Given the description of an element on the screen output the (x, y) to click on. 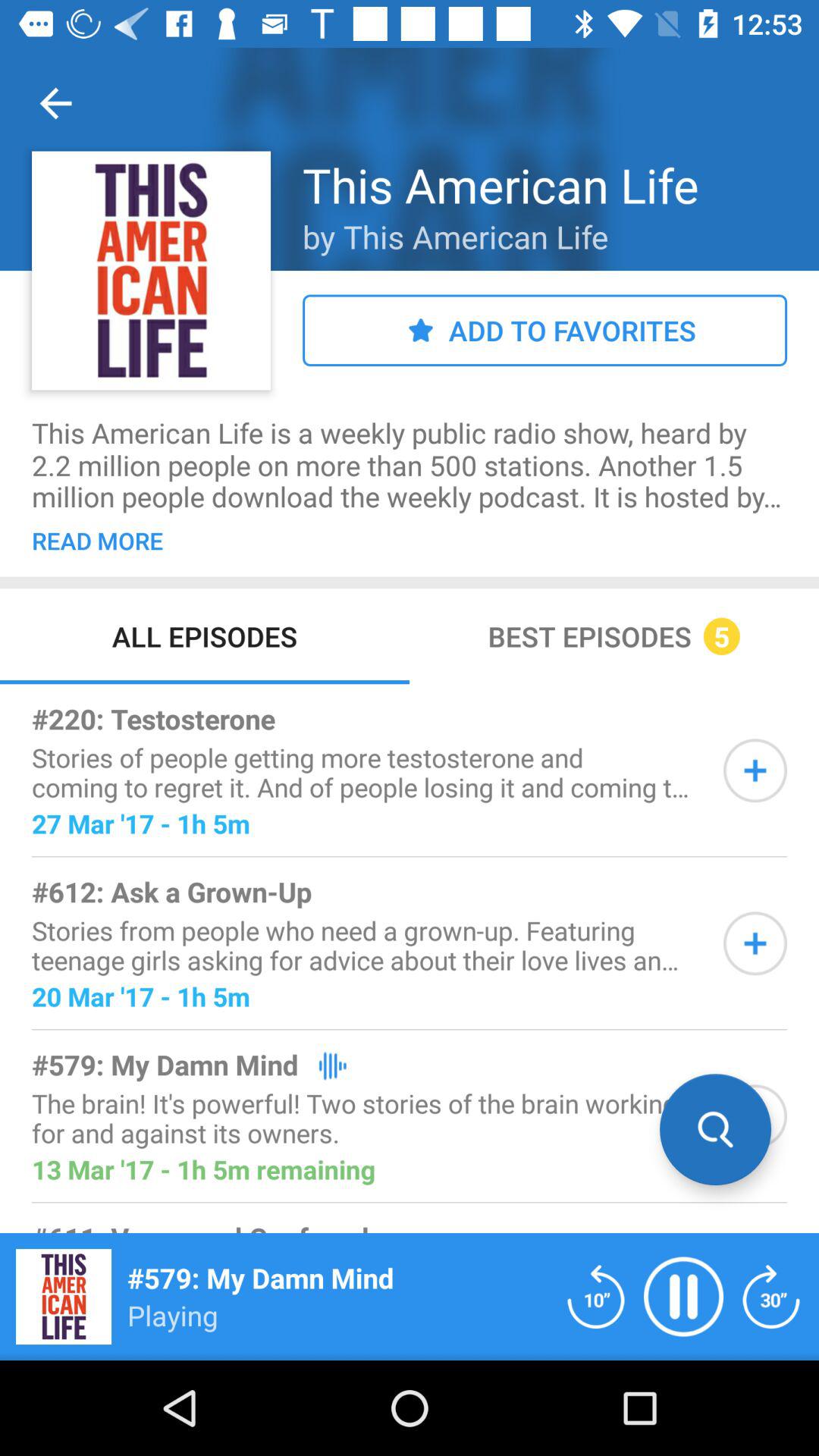
rewind 10 seconds (595, 1296)
